Given the description of an element on the screen output the (x, y) to click on. 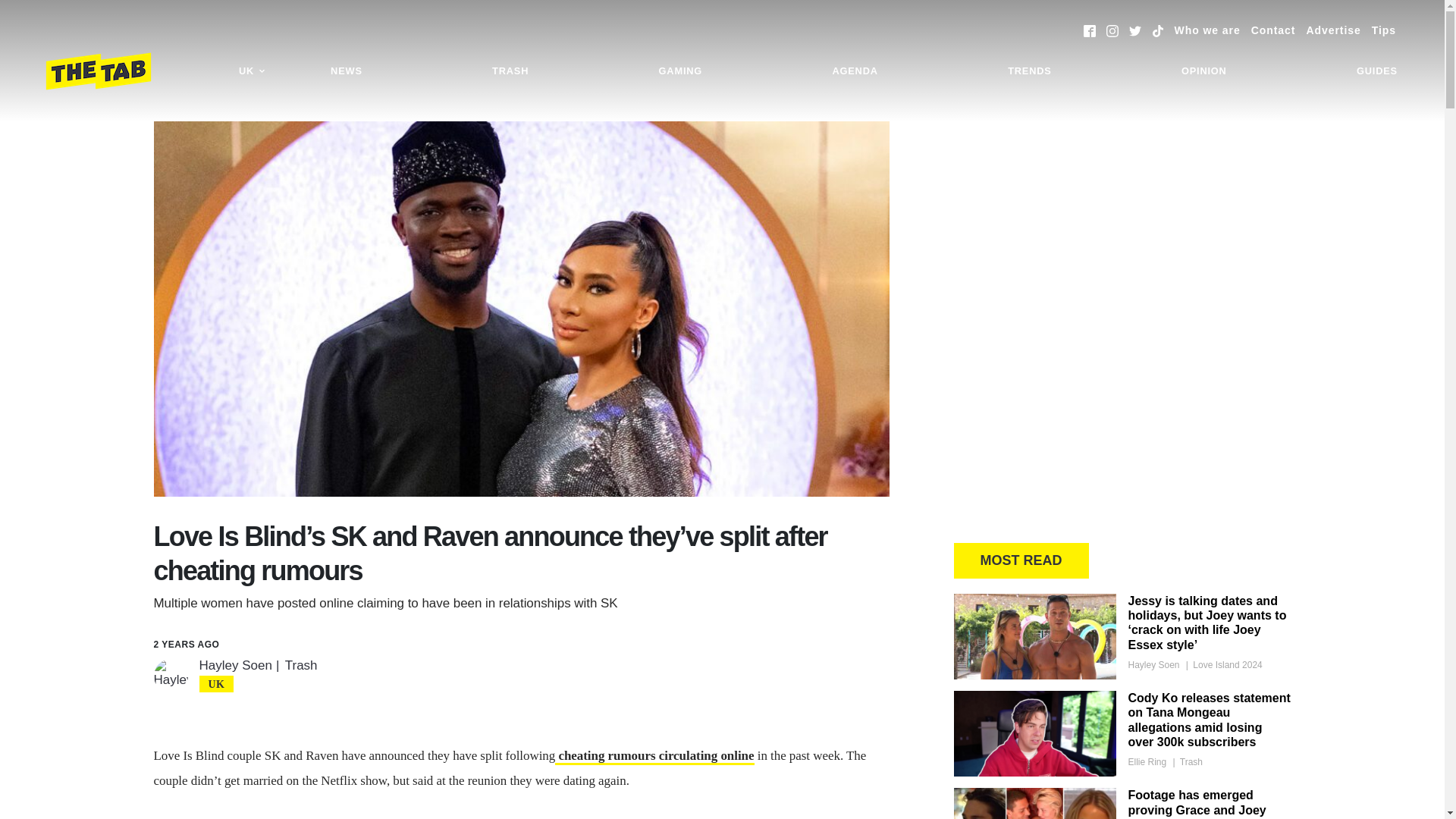
NEWS (346, 71)
Tips (1383, 29)
Who we are (1207, 29)
GUIDES (1377, 71)
AGENDA (854, 71)
Contact (1272, 29)
Advertise (1332, 29)
TRENDS (1028, 71)
OPINION (1204, 71)
TRASH (510, 71)
GAMING (680, 71)
UK (252, 71)
